Given the description of an element on the screen output the (x, y) to click on. 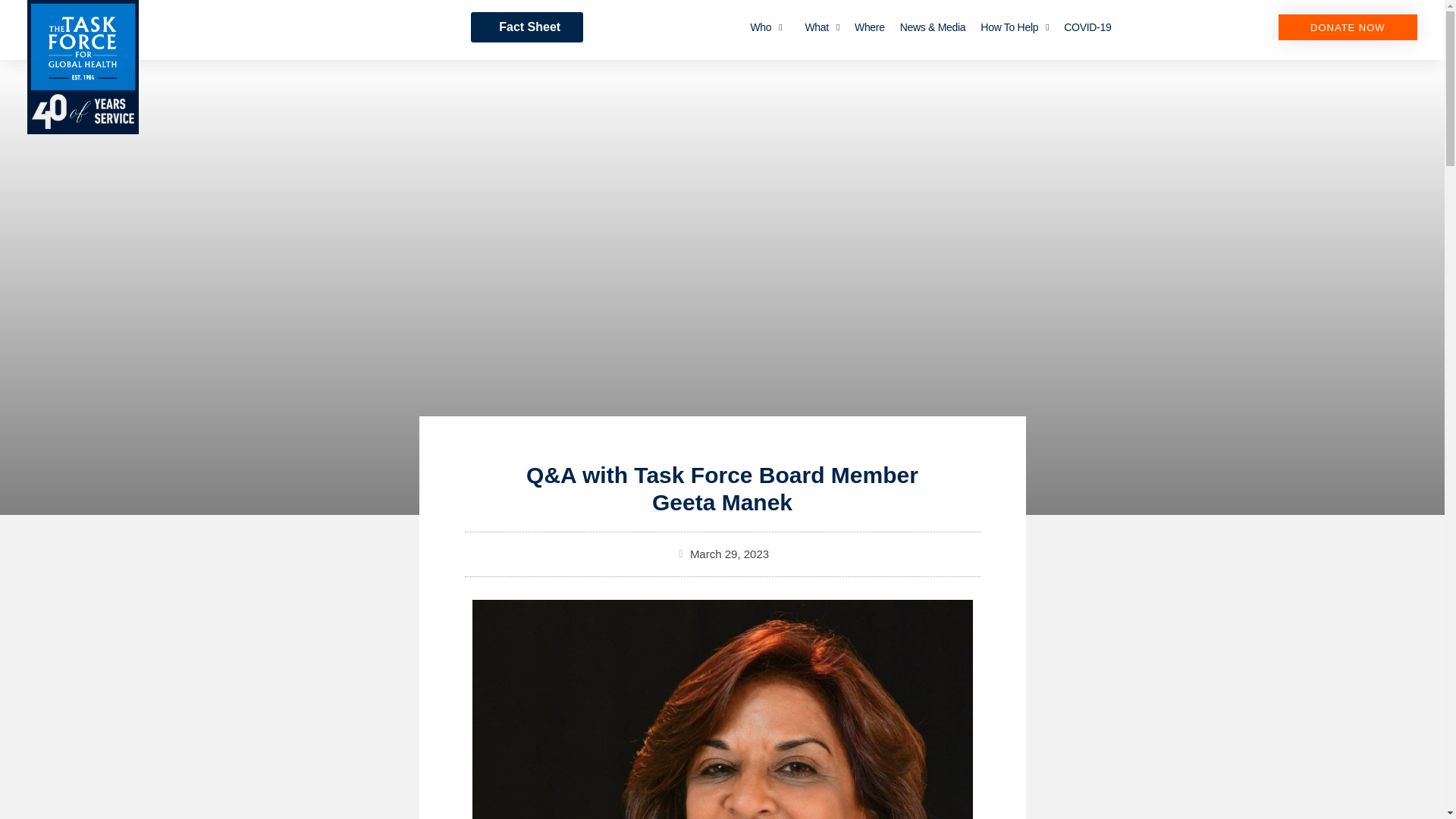
COVID-19 (1087, 27)
Fact Sheet (526, 27)
Who (765, 27)
Where (869, 27)
What (821, 27)
How To Help (1014, 27)
